Given the description of an element on the screen output the (x, y) to click on. 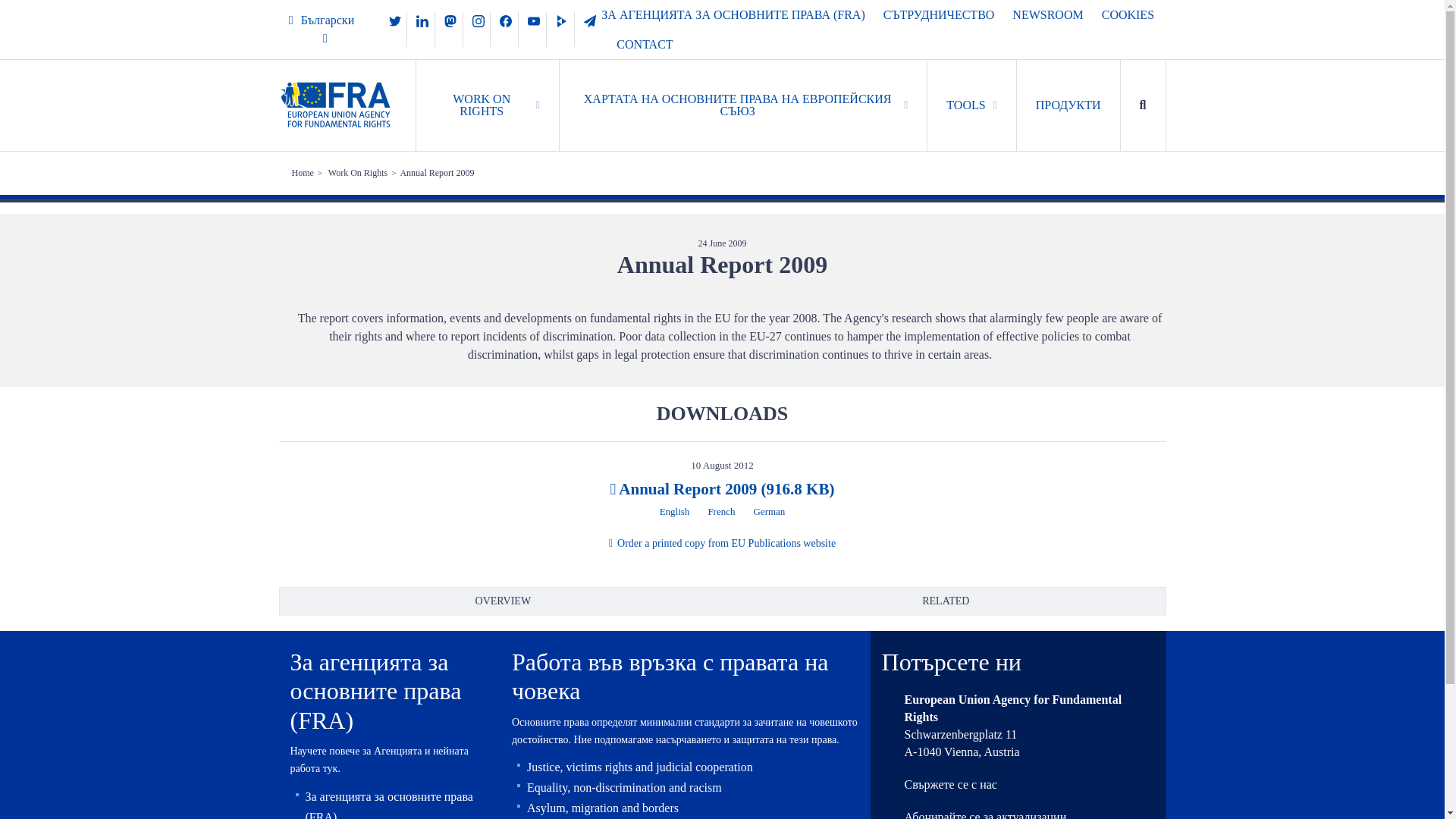
CONTACT (643, 43)
COOKIES (1128, 14)
NEWSROOM (1047, 14)
